Given the description of an element on the screen output the (x, y) to click on. 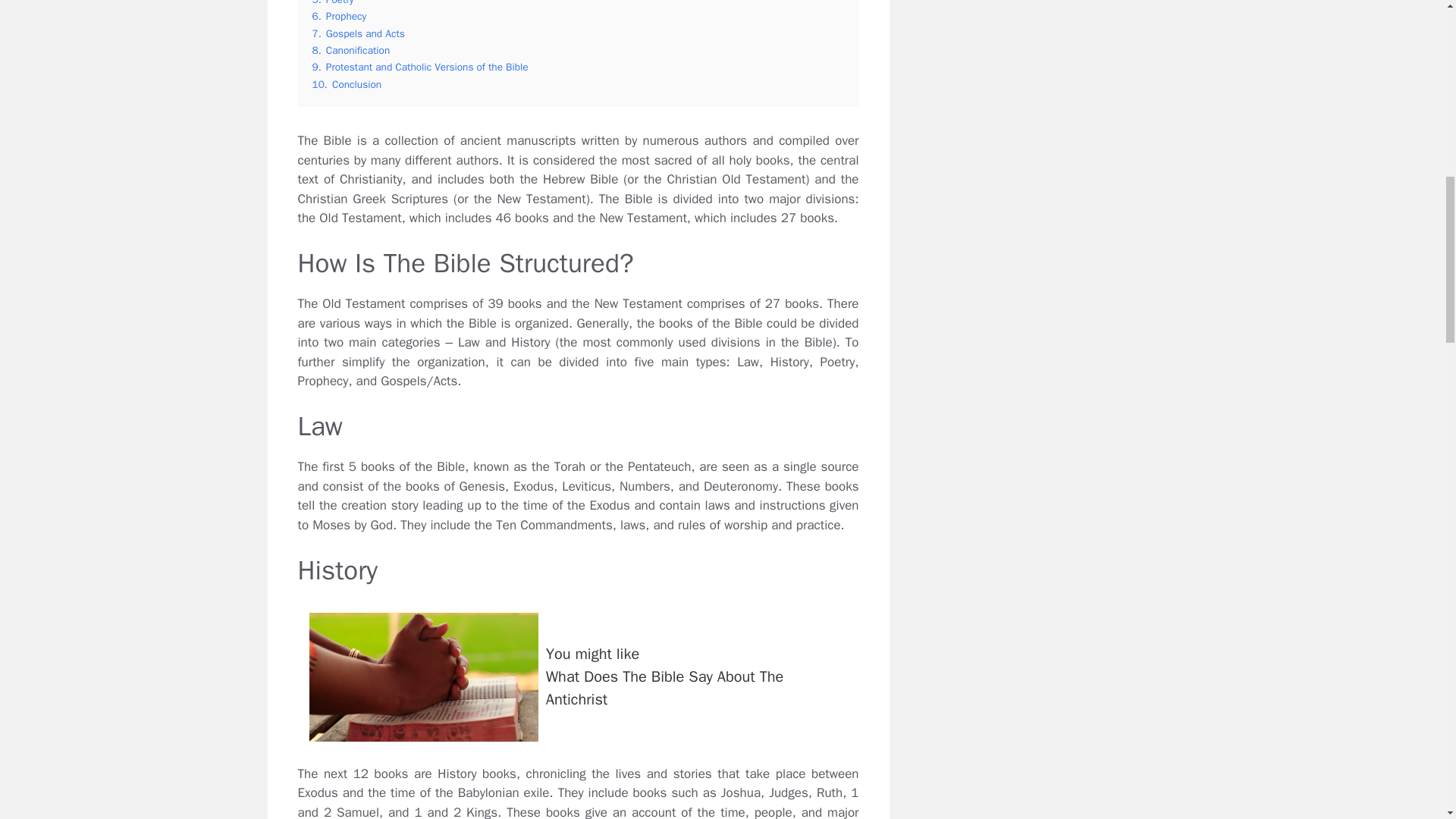
10. Conclusion (347, 83)
How Is The Bible Organized (423, 677)
8. Canonification (578, 676)
7. Gospels and Acts (351, 50)
9. Protestant and Catholic Versions of the Bible (358, 33)
5. Poetry (420, 66)
6. Prophecy (333, 2)
